Given the description of an element on the screen output the (x, y) to click on. 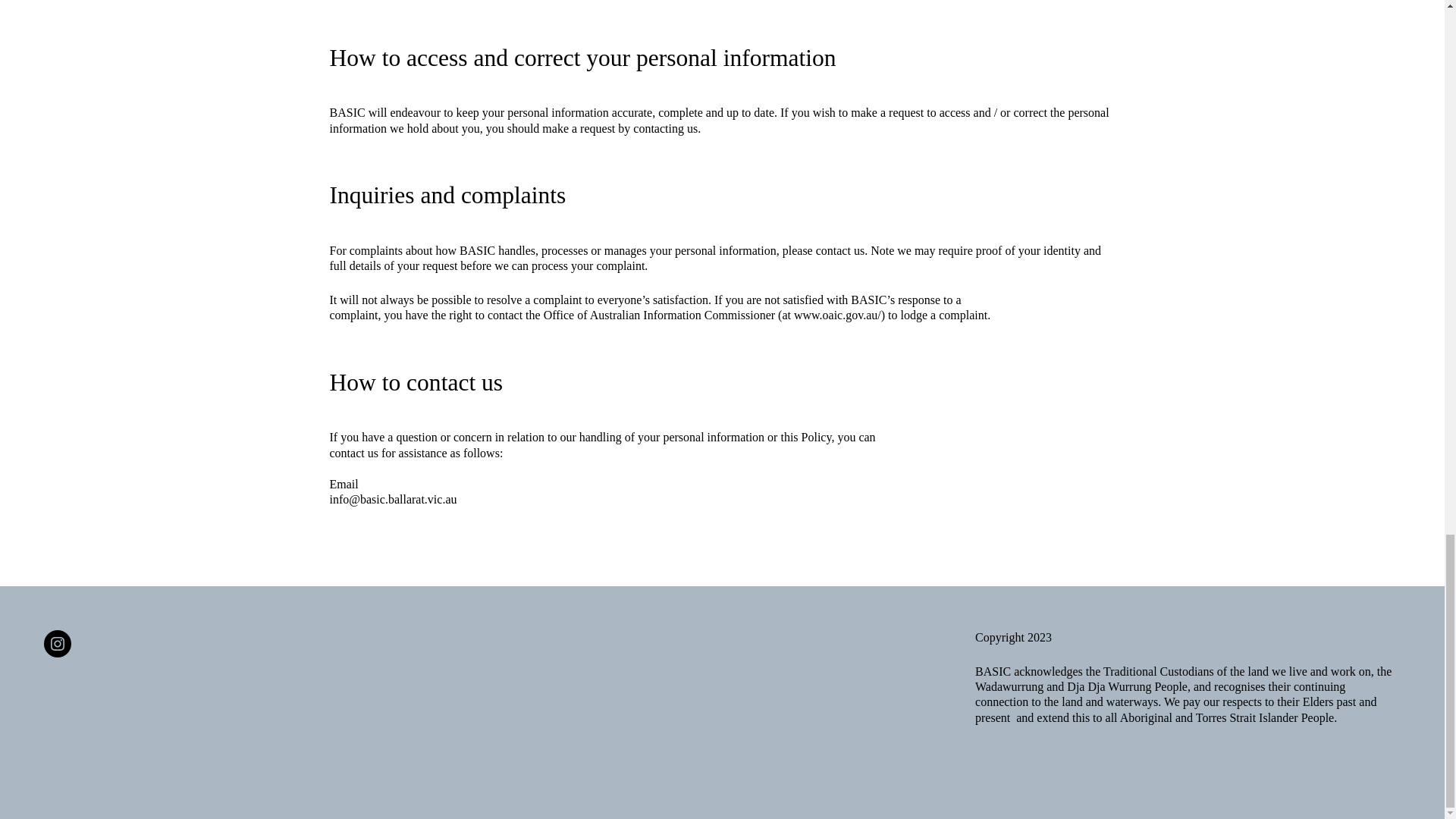
Instagram (57, 643)
